Given the description of an element on the screen output the (x, y) to click on. 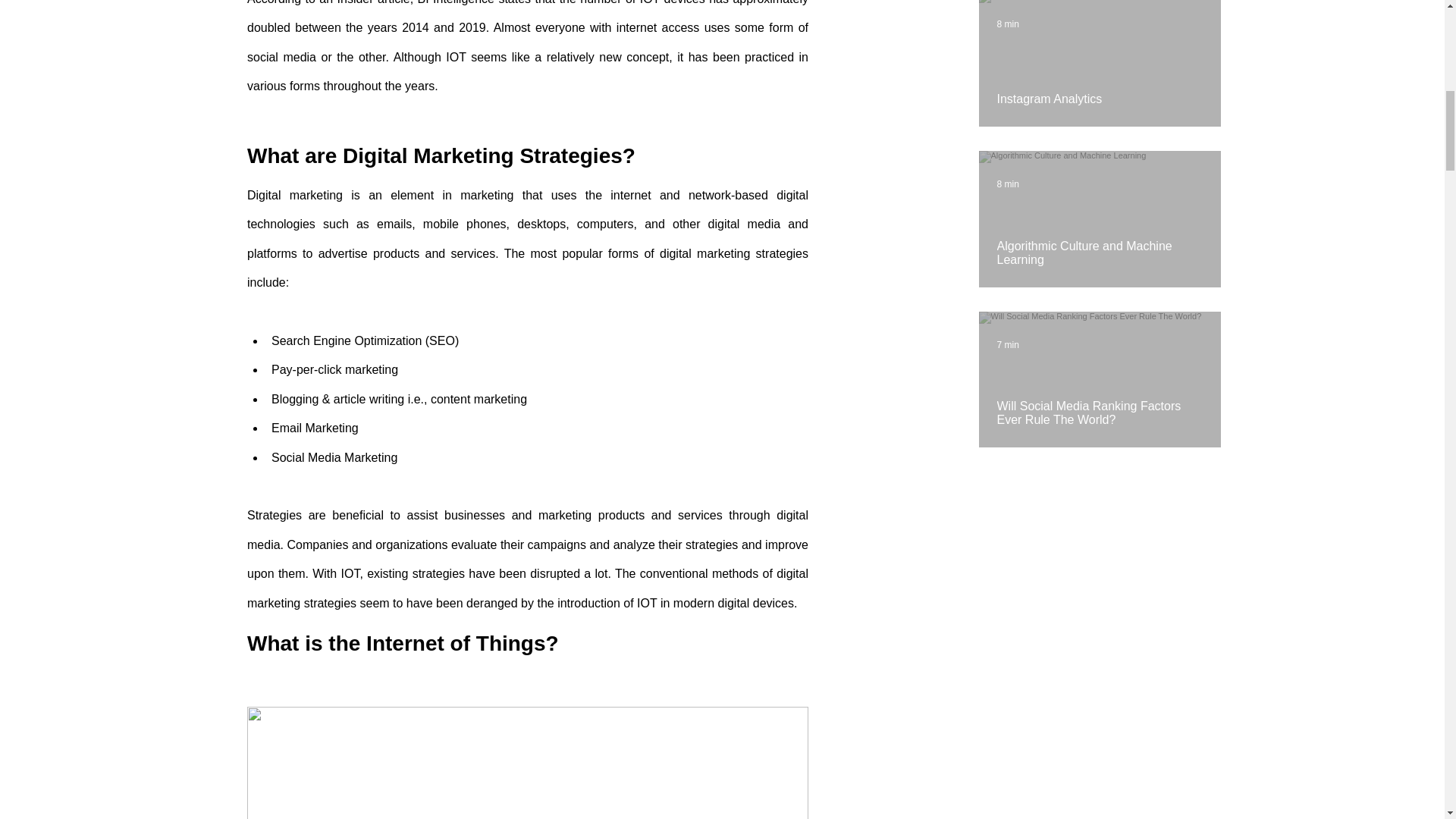
Will Social Media Ranking Factors Ever Rule The World? (1098, 405)
Instagram Analytics (1098, 92)
8 min (1006, 184)
Algorithmic Culture and Machine Learning (1098, 246)
7 min (1006, 344)
8 min (1006, 23)
